Given the description of an element on the screen output the (x, y) to click on. 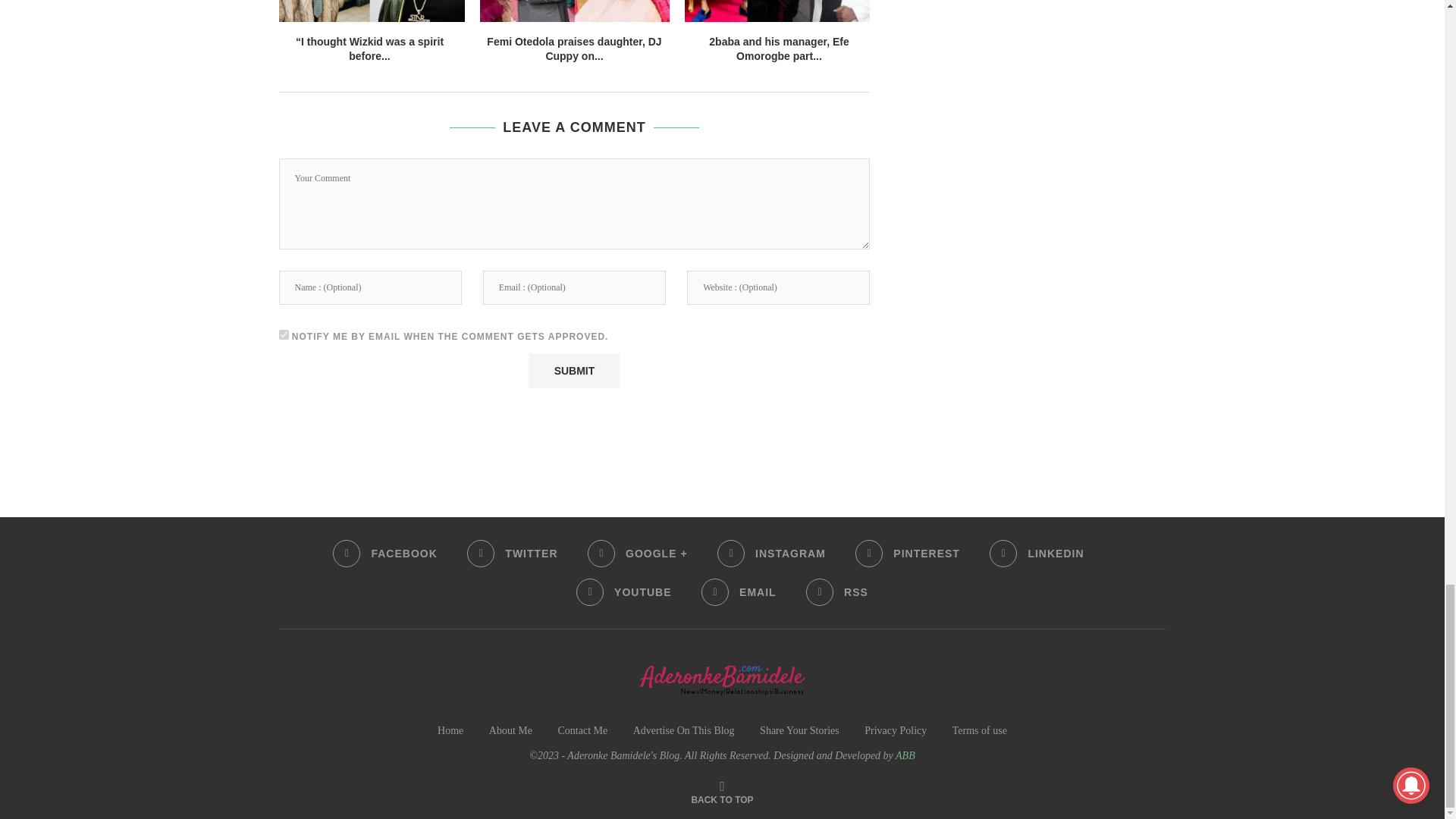
Submit (574, 370)
1 (283, 334)
